Given the description of an element on the screen output the (x, y) to click on. 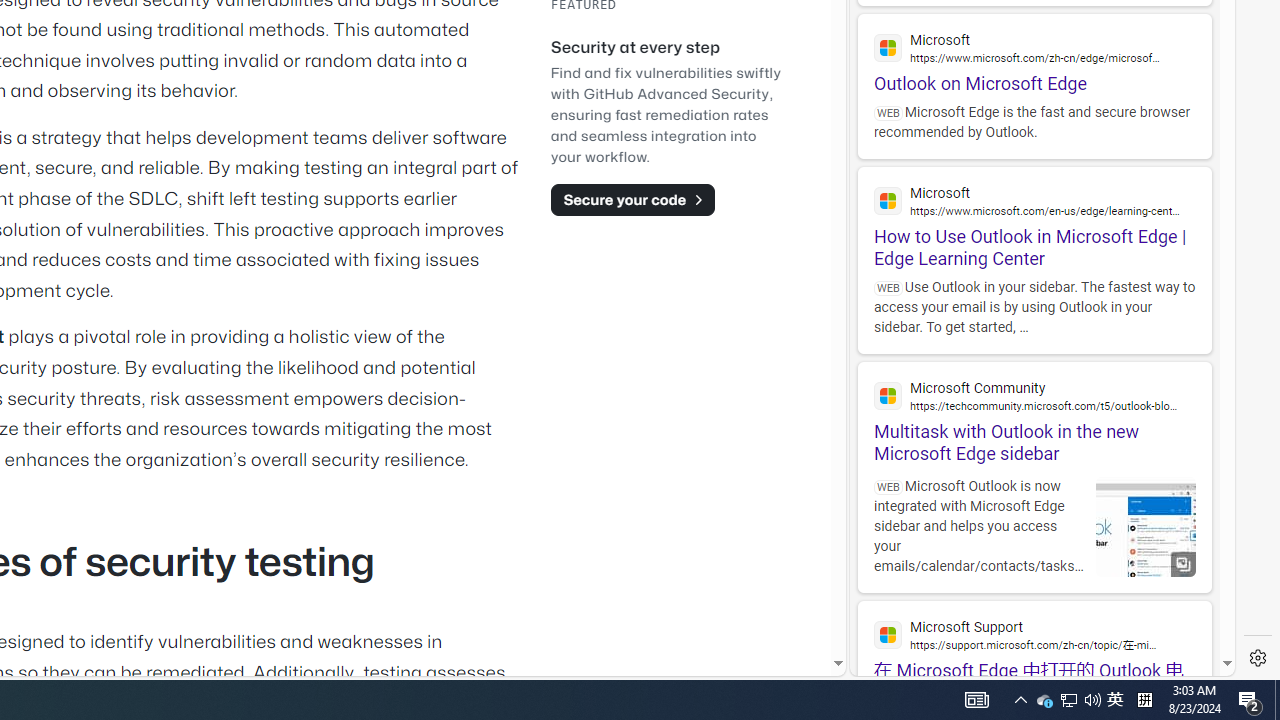
Microsoft Support (1034, 634)
How to Use Outlook in Microsoft Edge | Edge Learning Center (1034, 218)
Secure your code (632, 199)
Multitask with Outlook in the new Microsoft Edge sidebar (1034, 413)
Microsoft Community (1034, 395)
Global web icon (888, 633)
Microsoft (1034, 200)
Outlook on Microsoft Edge (1034, 54)
